Given the description of an element on the screen output the (x, y) to click on. 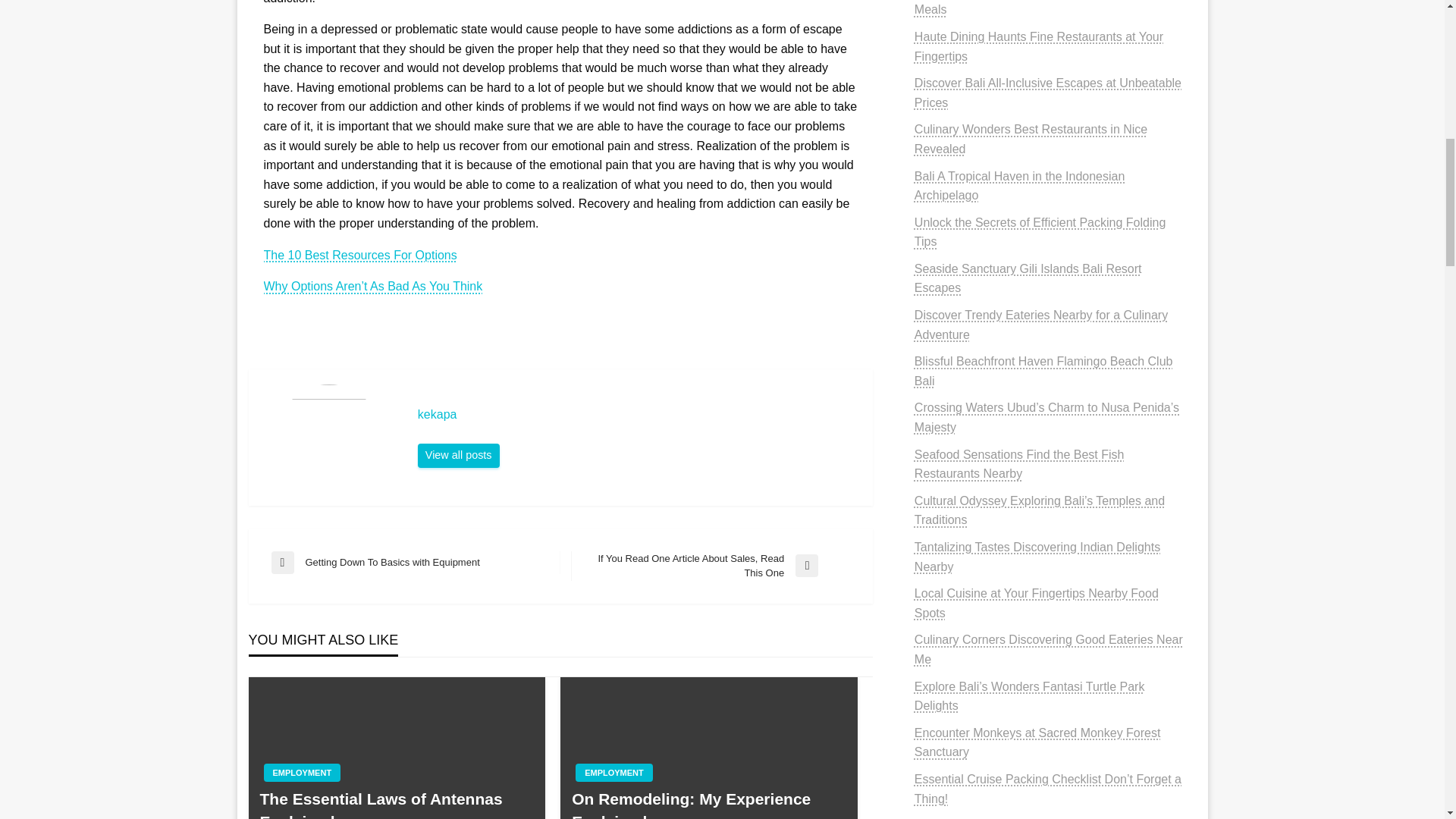
kekapa (458, 455)
kekapa (637, 414)
